Given the description of an element on the screen output the (x, y) to click on. 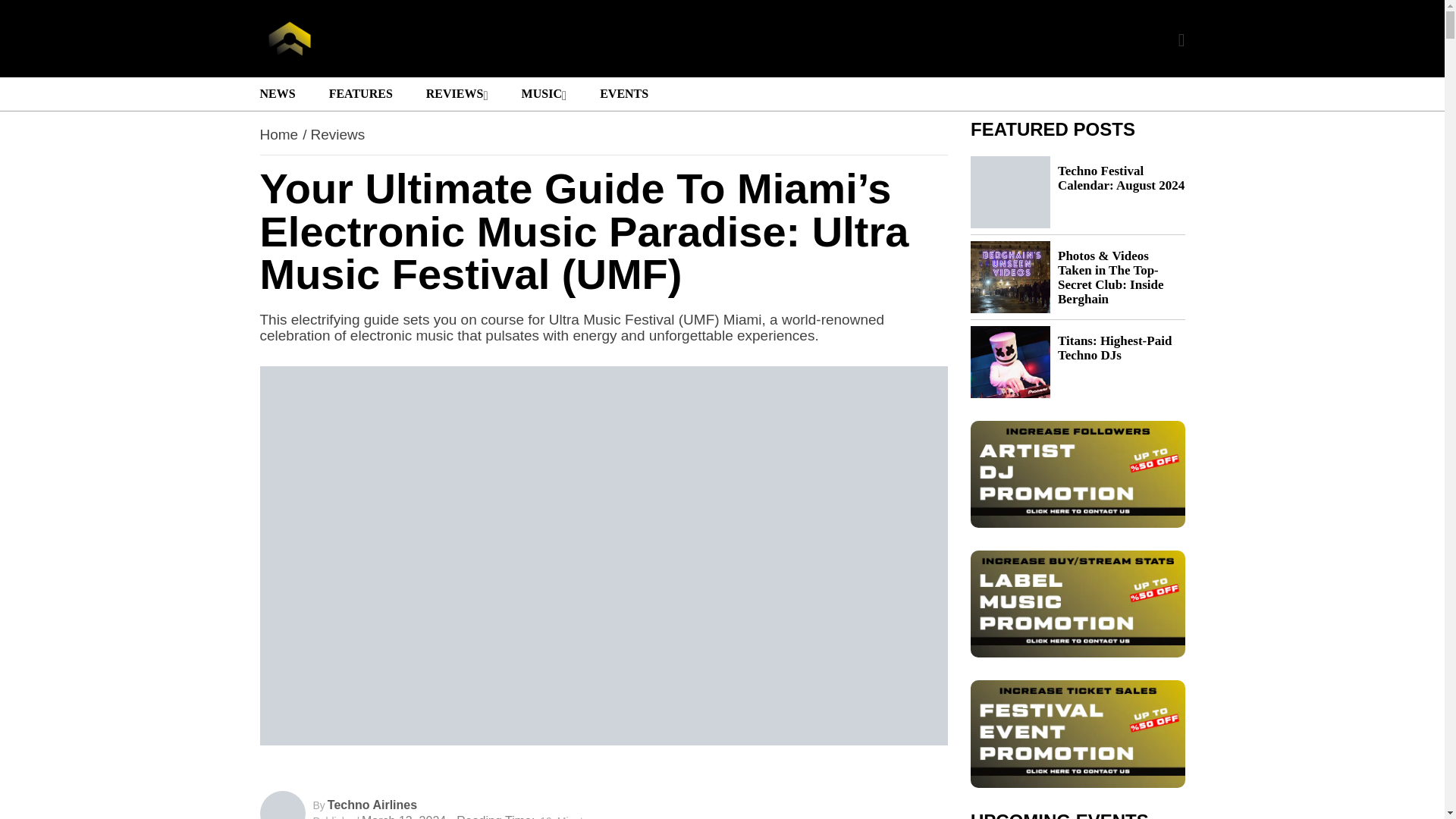
Techno Airlines (371, 805)
REVIEWS (457, 93)
Reviews (337, 134)
MUSIC (544, 93)
EVENTS (622, 93)
FEATURES (361, 93)
NEWS (277, 93)
Home (278, 134)
